Given the description of an element on the screen output the (x, y) to click on. 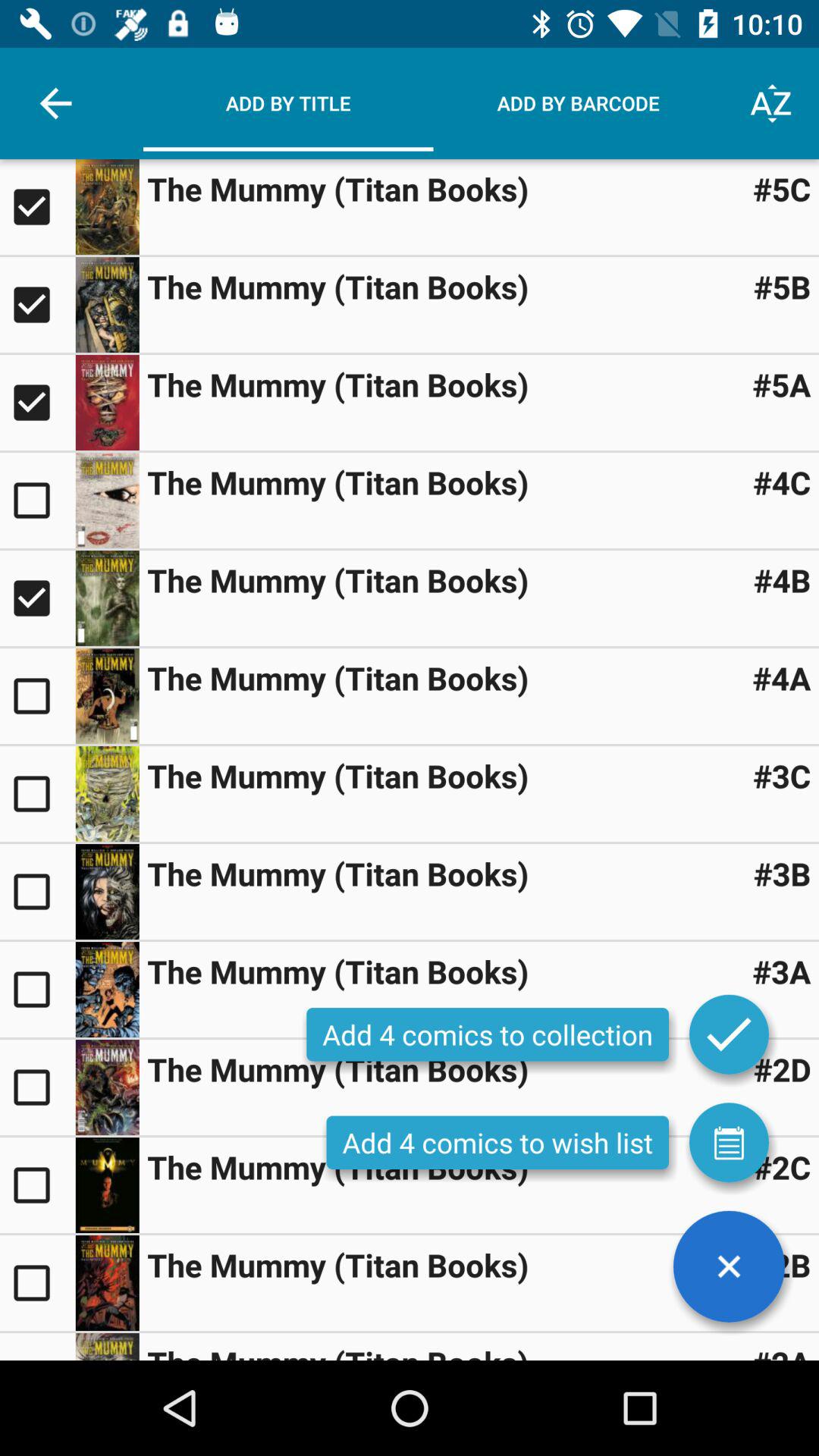
tap the item next to the the mummy titan item (782, 188)
